Given the description of an element on the screen output the (x, y) to click on. 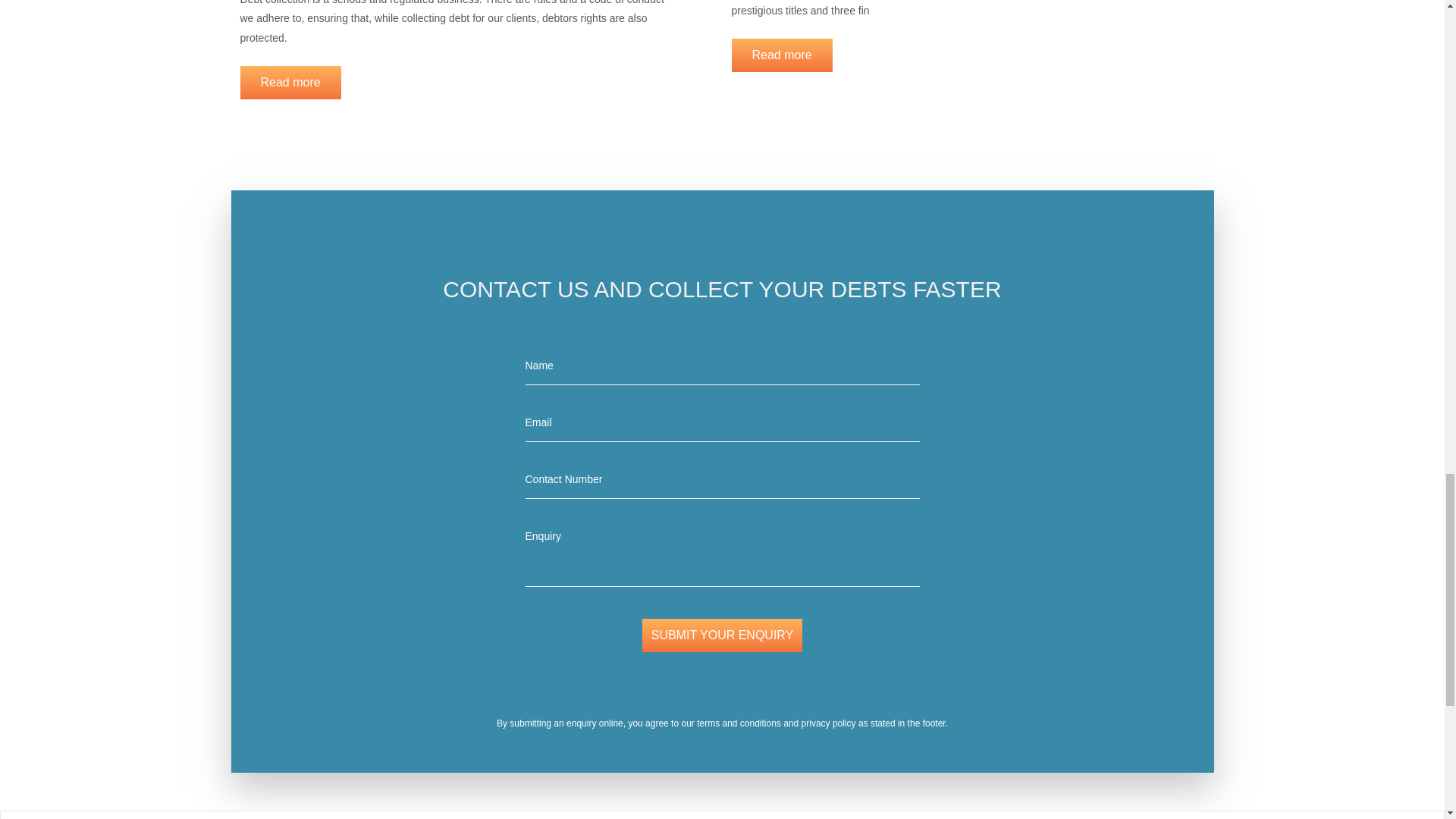
Submit your Enquiry (722, 635)
Read more (290, 82)
Read more (780, 55)
